Given the description of an element on the screen output the (x, y) to click on. 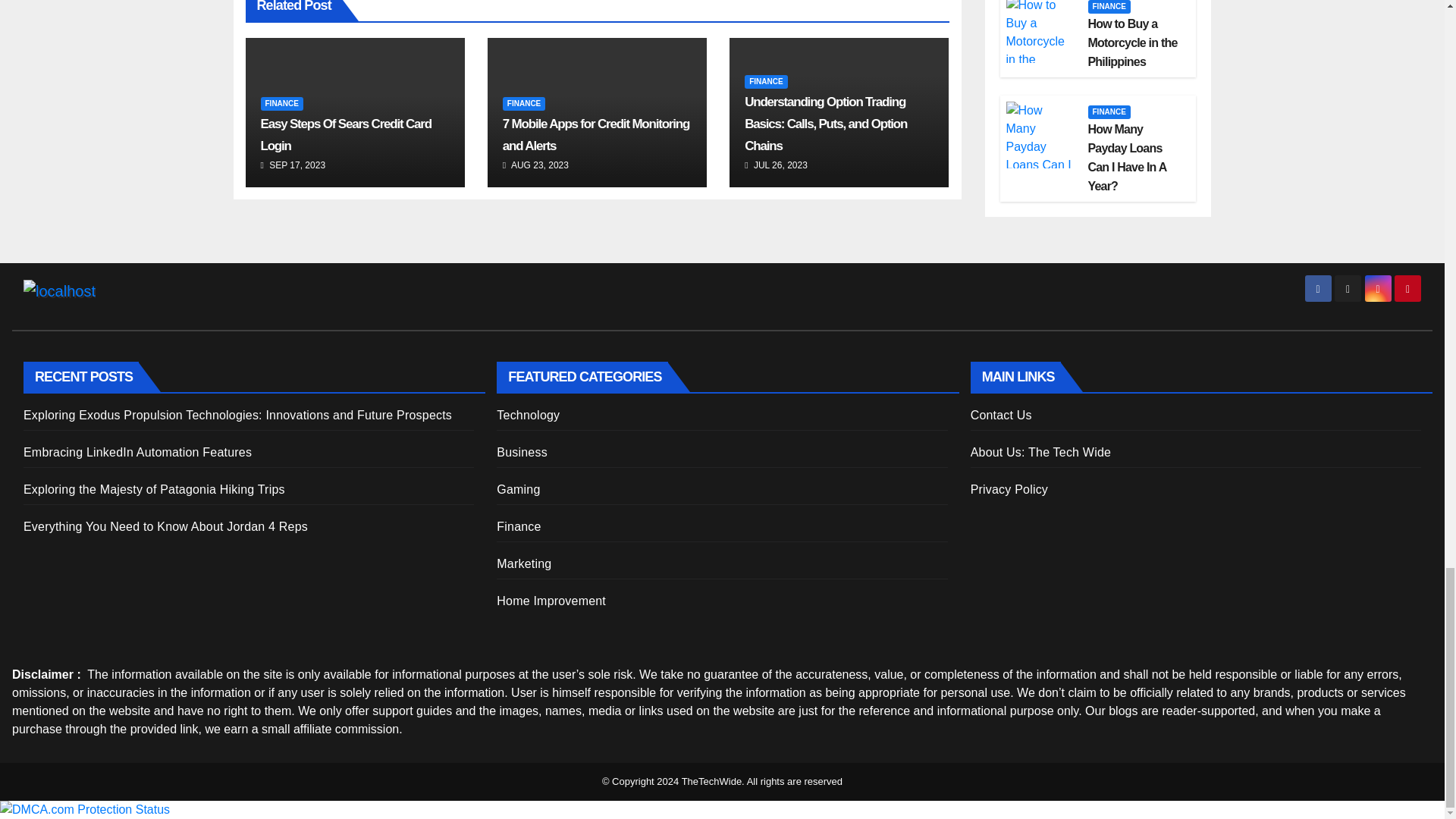
Permalink to: 7 Mobile Apps for Credit Monitoring and Alerts (595, 135)
7 Mobile Apps for Credit Monitoring and Alerts (595, 135)
FINANCE (765, 81)
FINANCE (281, 103)
Permalink to: Easy Steps Of Sears Credit Card Login (345, 135)
Easy Steps Of Sears Credit Card Login (345, 135)
DMCA.com Protection Status (85, 809)
FINANCE (523, 103)
